Given the description of an element on the screen output the (x, y) to click on. 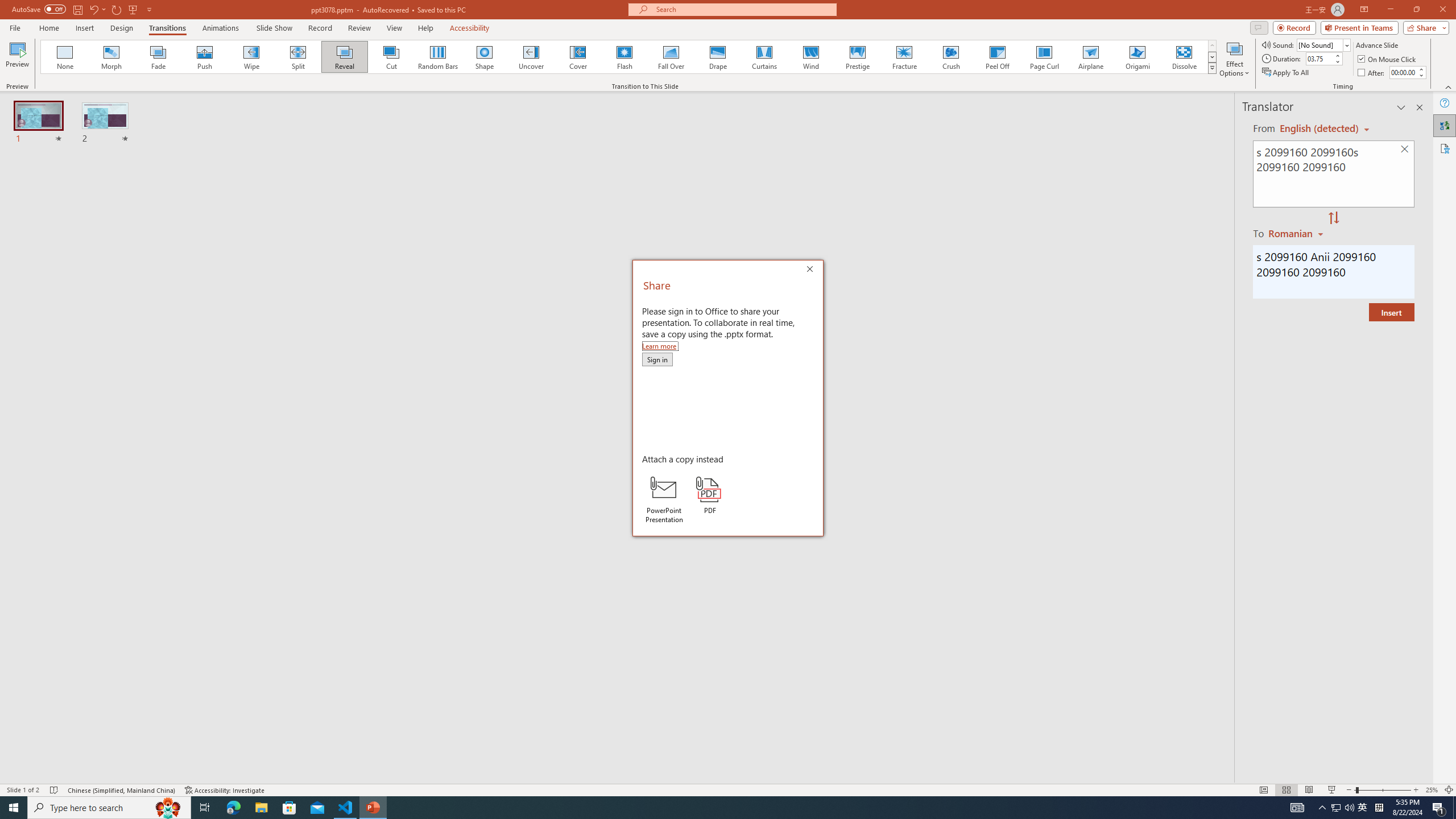
AutomationID: AnimationTransitionGallery (628, 56)
Sign in (657, 359)
Peel Off (997, 56)
More (1420, 69)
PDF (709, 495)
Zoom 25% (1431, 790)
Czech (detected) (1319, 128)
PowerPoint Presentation (663, 499)
